Given the description of an element on the screen output the (x, y) to click on. 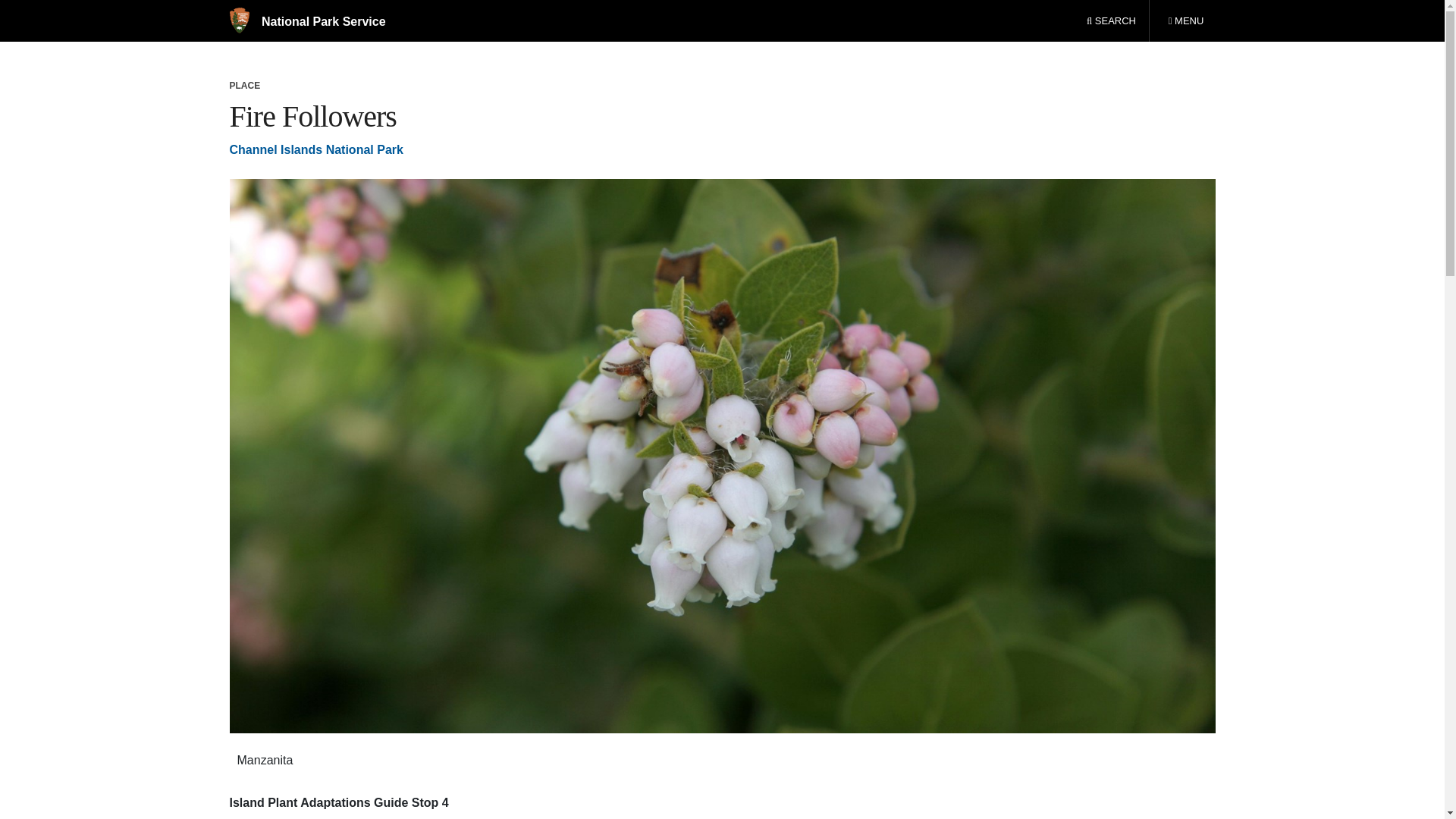
Channel Islands National Park (315, 149)
National Park Service (307, 20)
SEARCH (1185, 20)
